Given the description of an element on the screen output the (x, y) to click on. 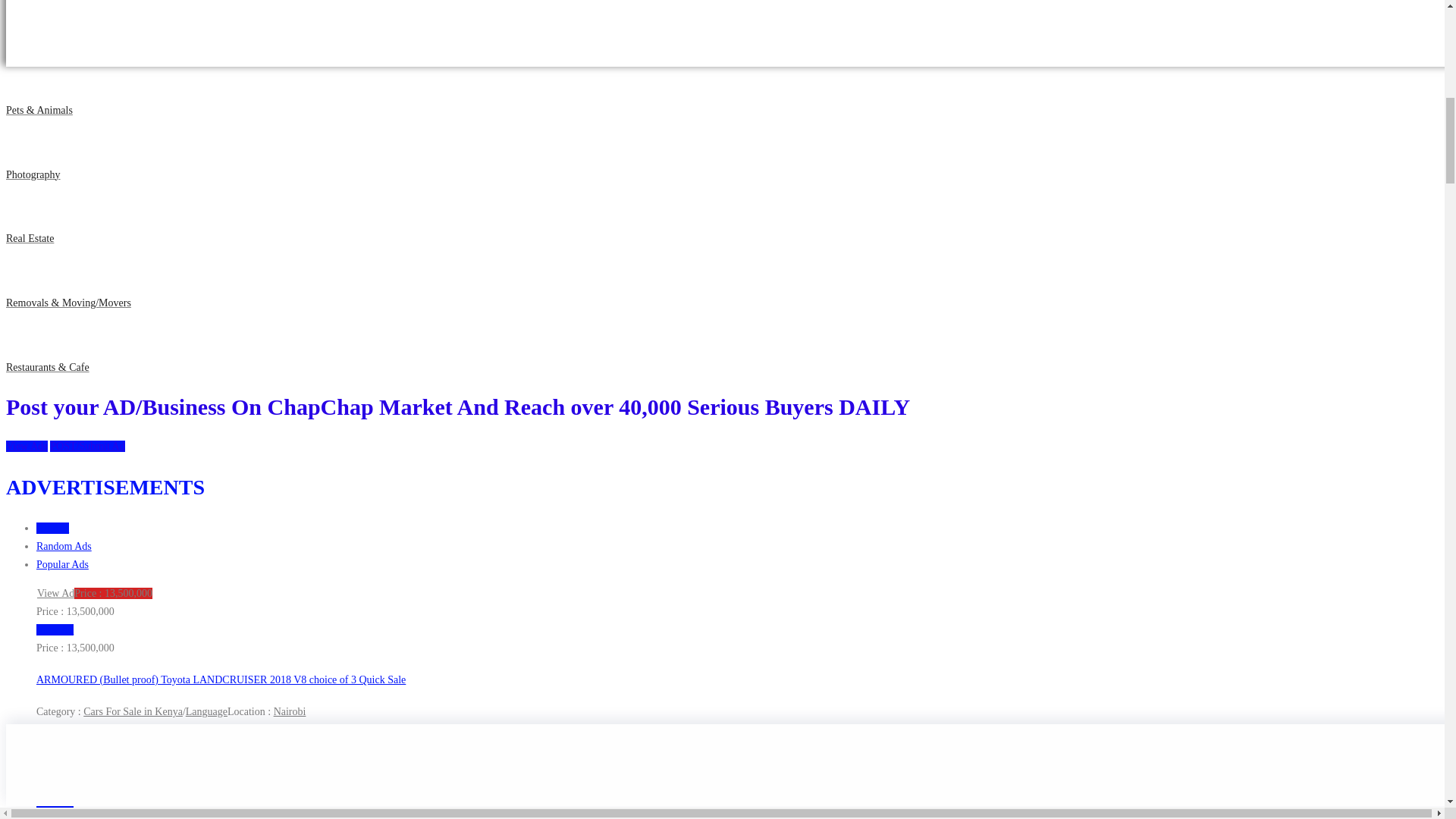
View all posts in Cars For Sale in Kenya (132, 711)
